Given the description of an element on the screen output the (x, y) to click on. 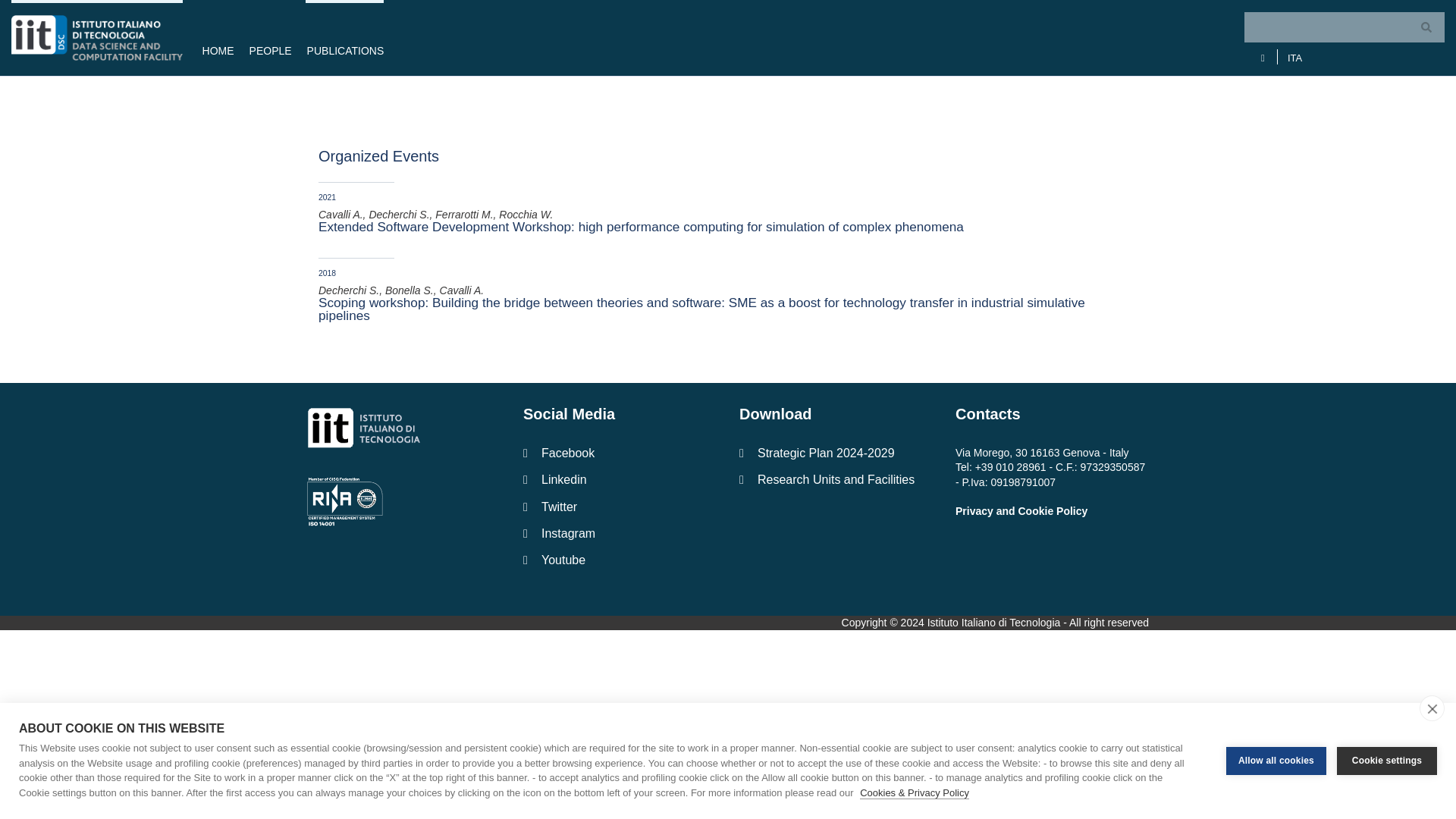
Facebook (619, 452)
PUBLICATIONS (341, 38)
Research Units and Facilities (836, 479)
Linkedin (619, 479)
Privacy and Cookie Policy (1021, 510)
Youtube (619, 559)
Instagram (619, 533)
Twitter (619, 506)
Strategic Plan 2024-2029 (836, 452)
